Given the description of an element on the screen output the (x, y) to click on. 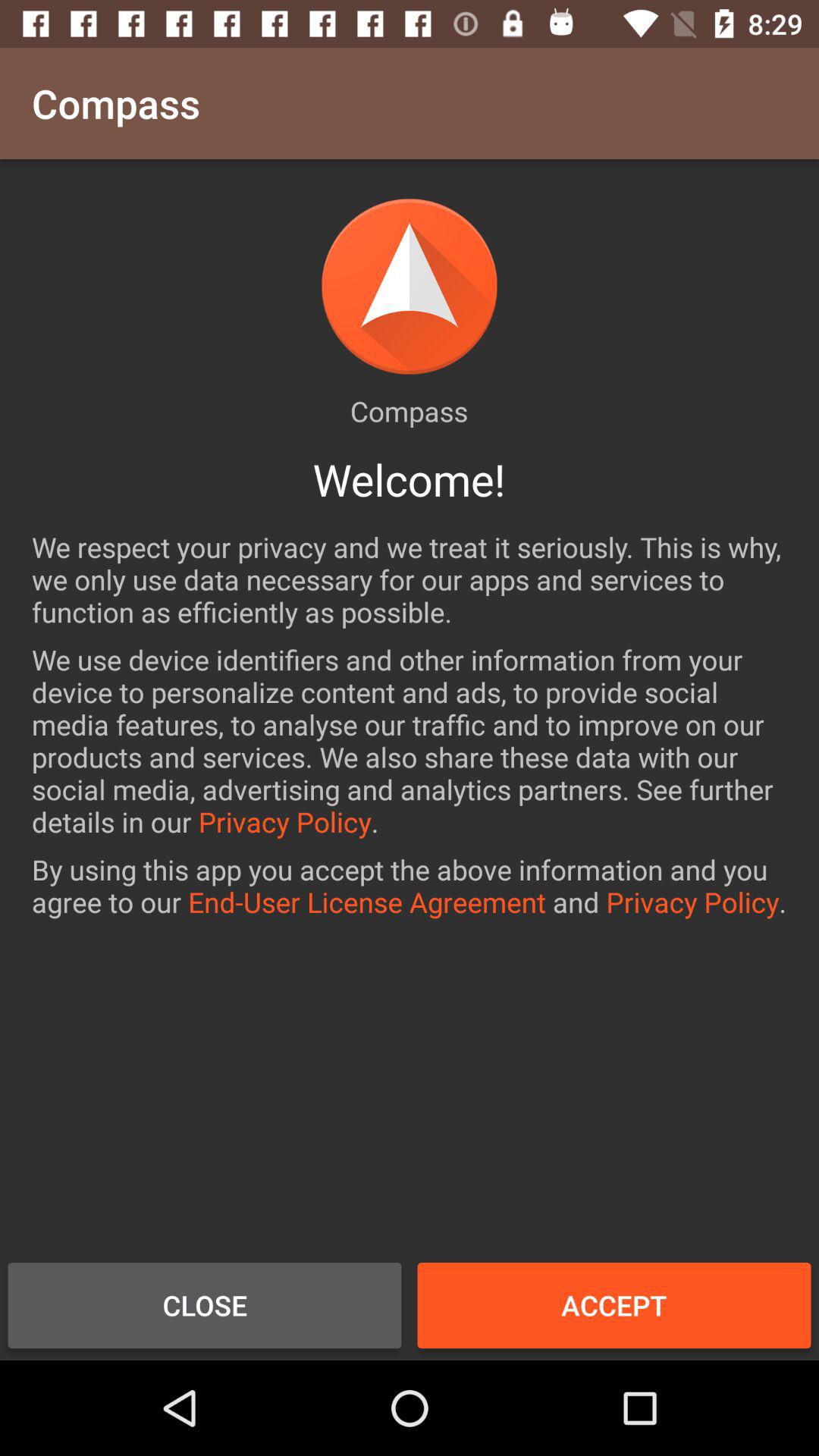
turn off by using this (409, 885)
